Given the description of an element on the screen output the (x, y) to click on. 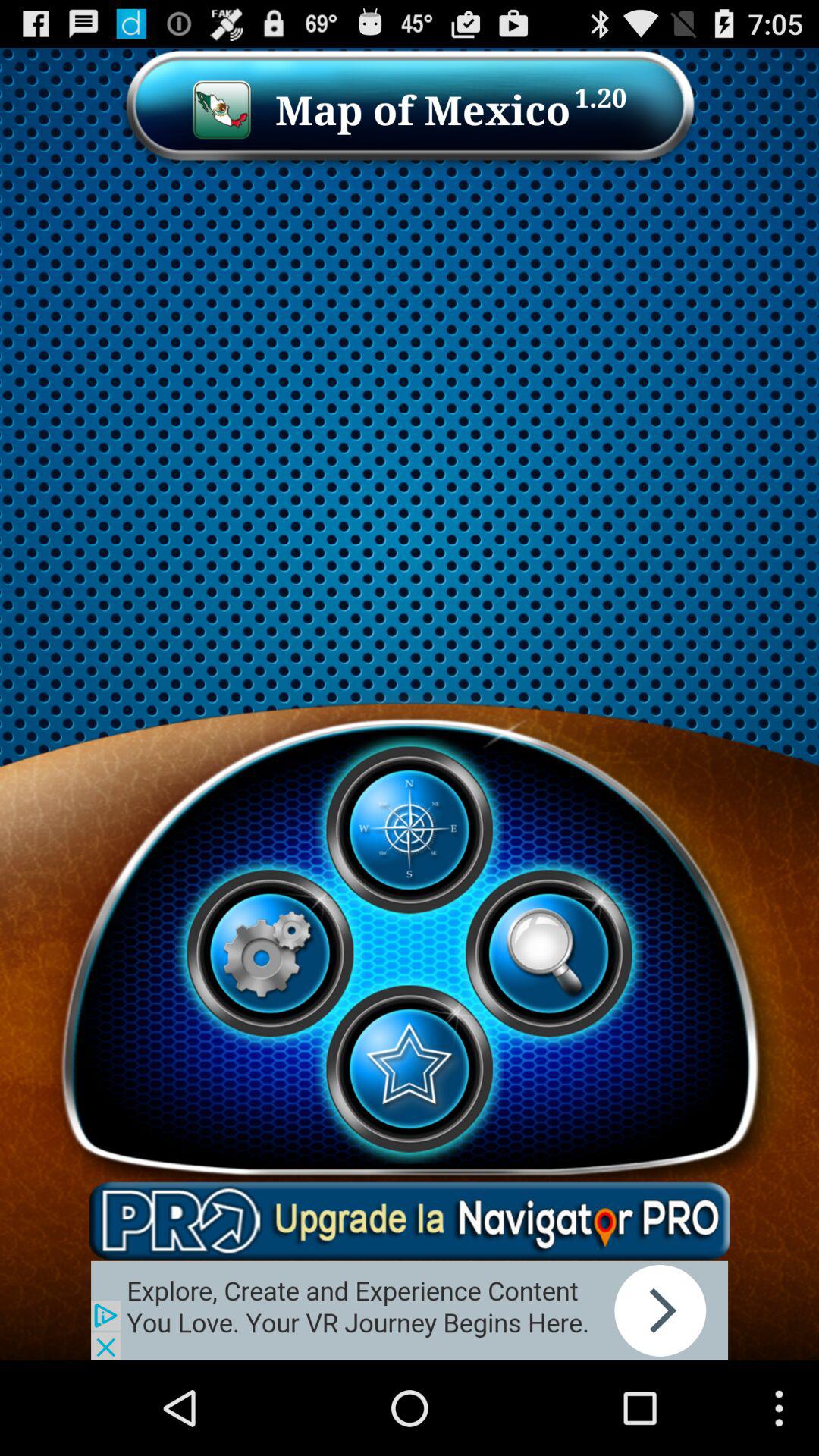
this is add banner in app (409, 1220)
